Given the description of an element on the screen output the (x, y) to click on. 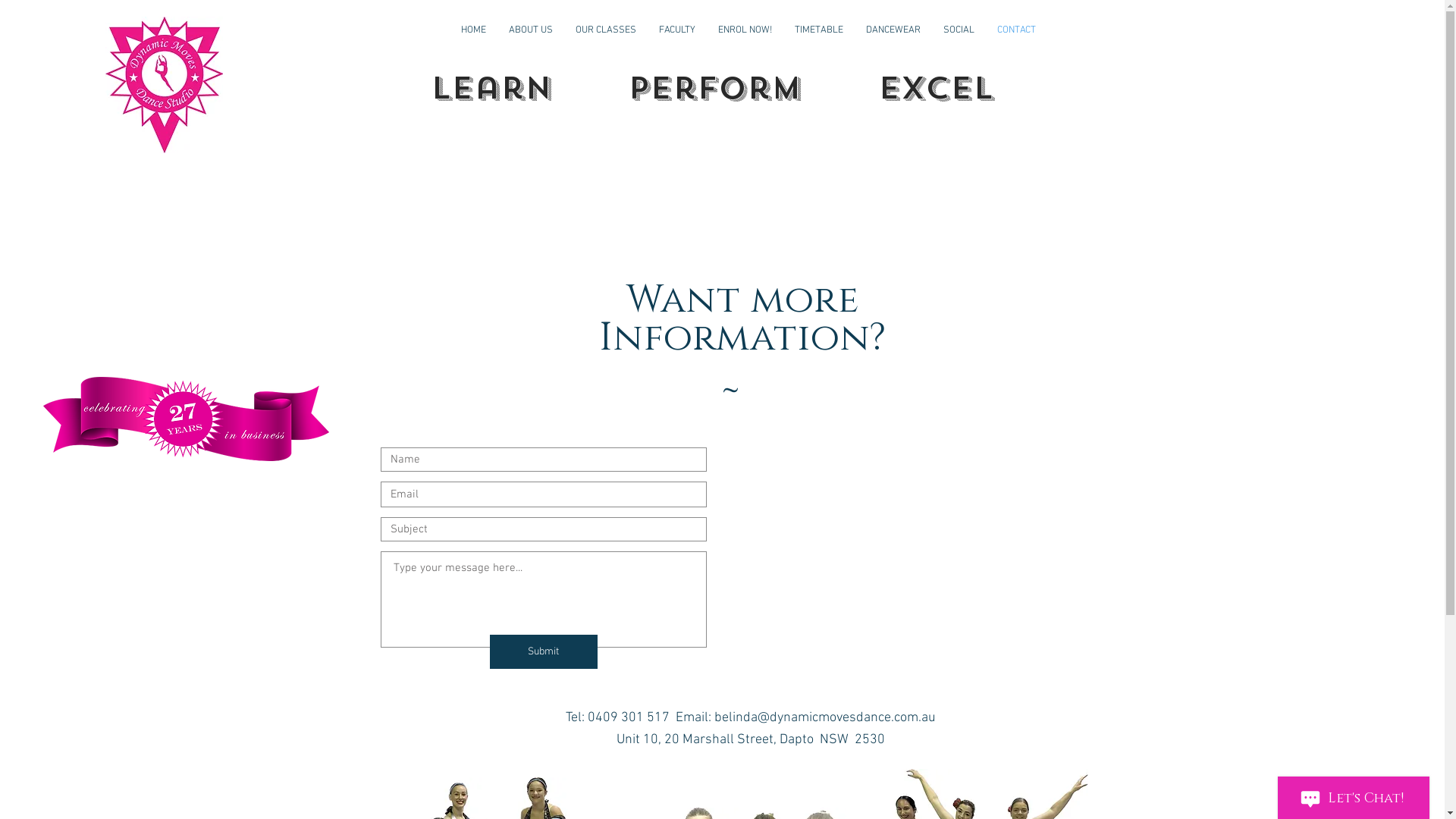
TIMETABLE Element type: text (817, 30)
SOCIAL Element type: text (958, 30)
DANCEWEAR Element type: text (892, 30)
belinda@dynamicmovesdance.com.au Element type: text (824, 717)
FACULTY Element type: text (676, 30)
CONTACT Element type: text (1016, 30)
ABOUT US Element type: text (530, 30)
dynamic_logo - new.jpg Element type: hover (163, 84)
HOME Element type: text (472, 30)
ENROL NOW! Element type: text (744, 30)
Google Maps Element type: hover (913, 546)
Submit Element type: text (543, 651)
OUR CLASSES Element type: text (605, 30)
